Given the description of an element on the screen output the (x, y) to click on. 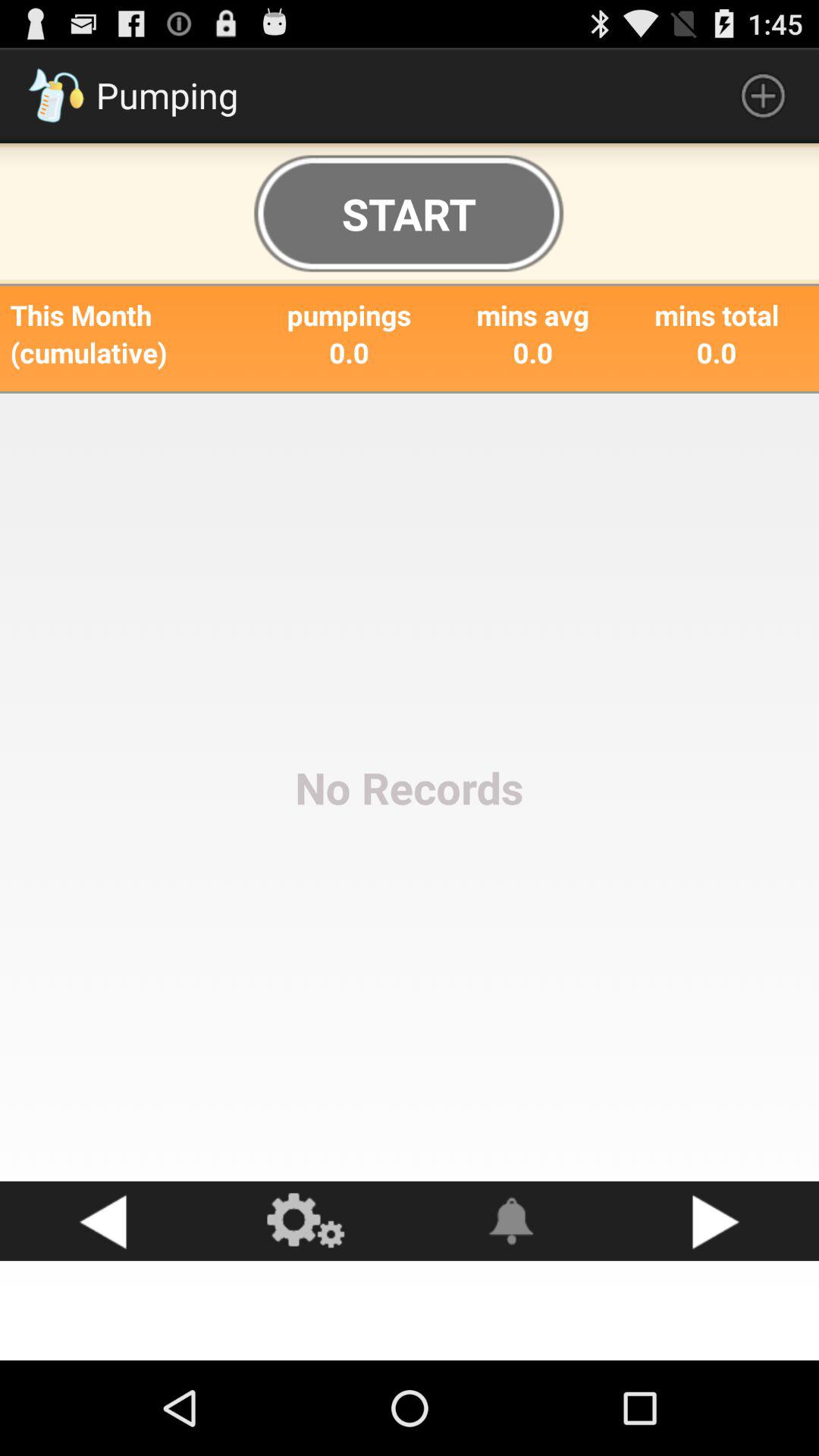
go back (102, 1220)
